Given the description of an element on the screen output the (x, y) to click on. 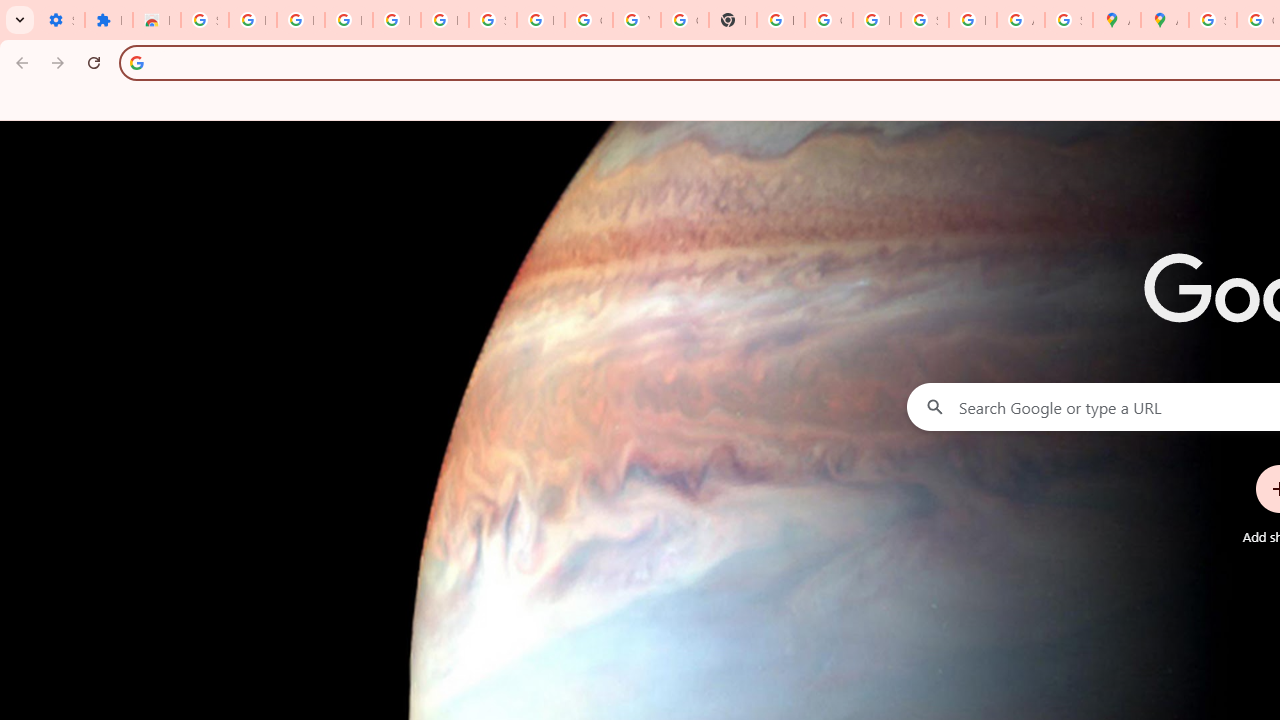
Safety in Our Products - Google Safety Center (1068, 20)
New Tab (732, 20)
Sign in - Google Accounts (492, 20)
Sign in - Google Accounts (204, 20)
Delete photos & videos - Computer - Google Photos Help (348, 20)
Google Account (588, 20)
Settings - On startup (60, 20)
Sign in - Google Accounts (1212, 20)
